Given the description of an element on the screen output the (x, y) to click on. 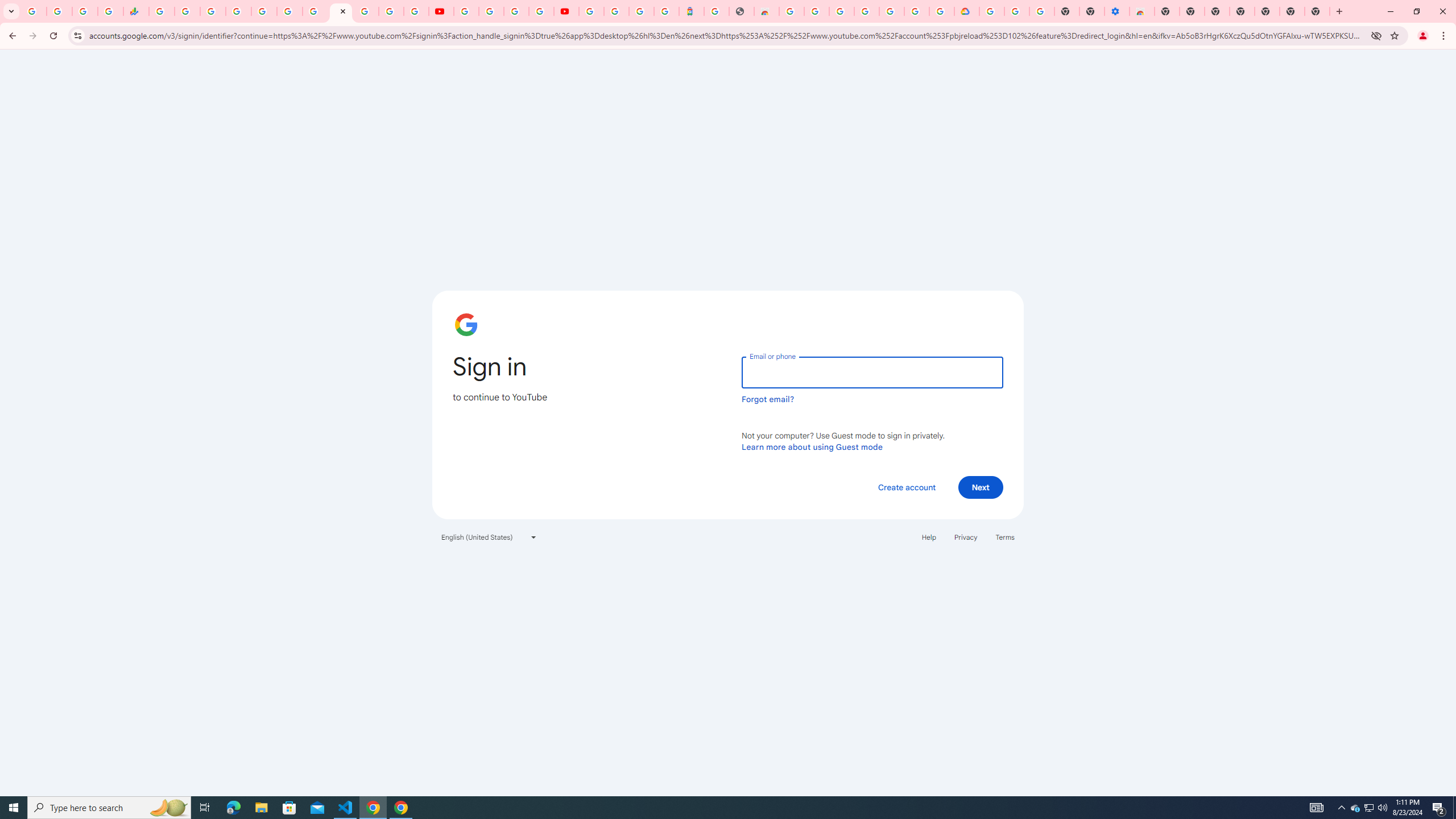
Ad Settings (816, 11)
Sign in - Google Accounts (841, 11)
Atour Hotel - Google hotels (691, 11)
Content Creator Programs & Opportunities - YouTube Creators (565, 11)
New Tab (1317, 11)
New Tab (1166, 11)
Create your Google Account (516, 11)
